Given the description of an element on the screen output the (x, y) to click on. 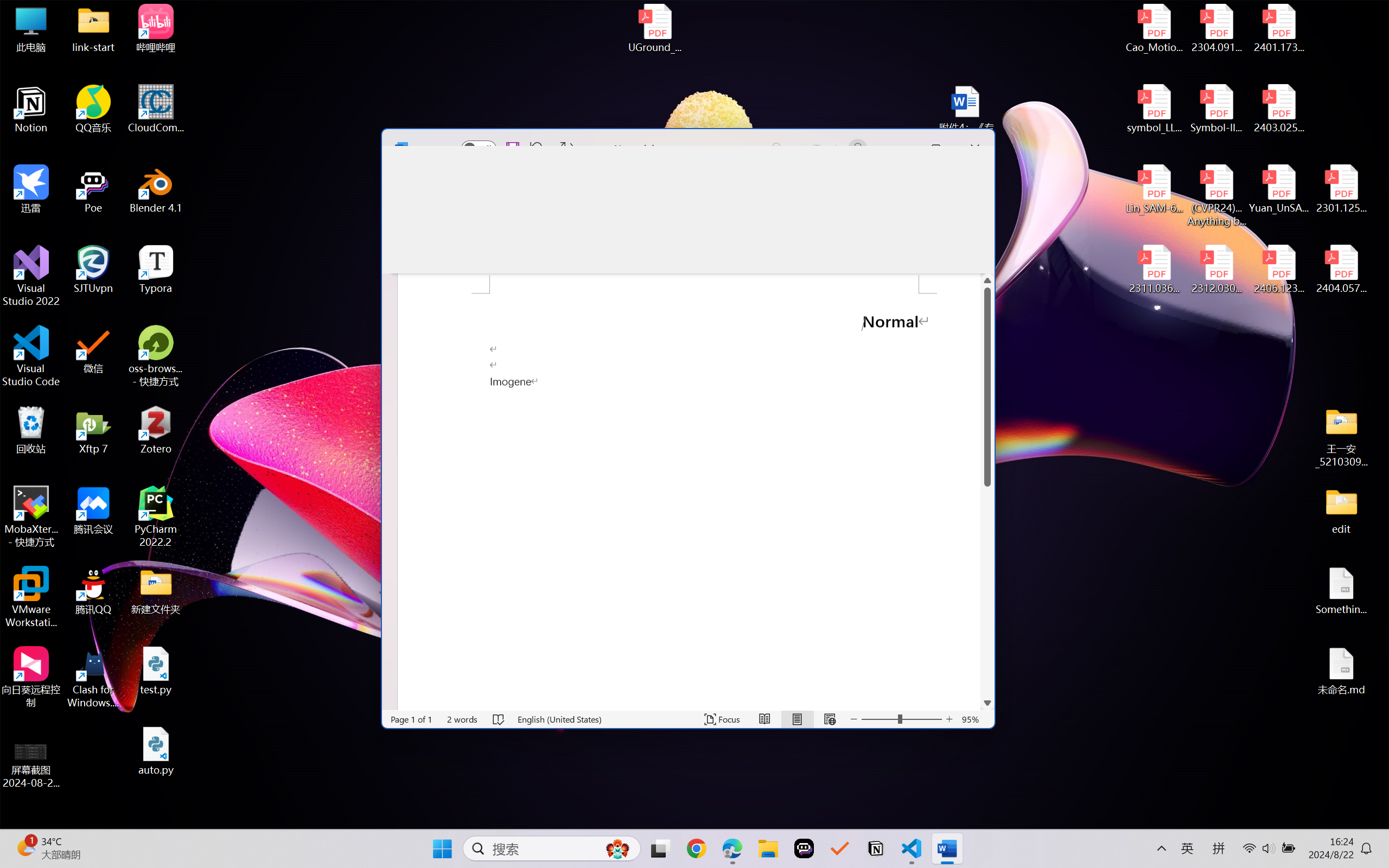
Drawing Canvas (949, 226)
Ruler (740, 226)
2301.12597v3.pdf (1340, 189)
Search (775, 148)
Poe (804, 848)
Pencil: Gray, 1 mm (651, 223)
Pen: Red, 0.5 mm (573, 223)
